Given the description of an element on the screen output the (x, y) to click on. 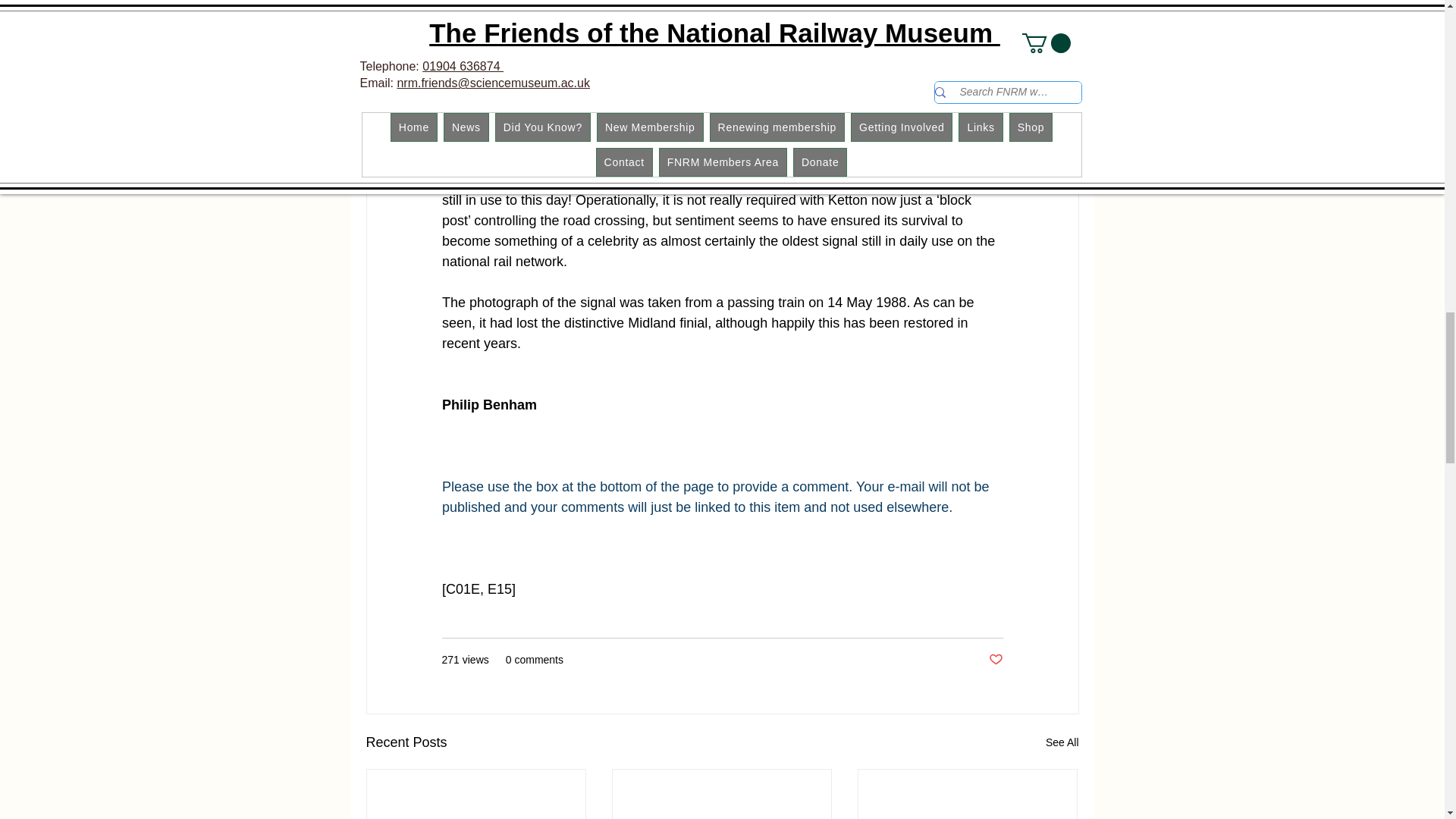
See All (1061, 742)
Post not marked as liked (995, 659)
